Given the description of an element on the screen output the (x, y) to click on. 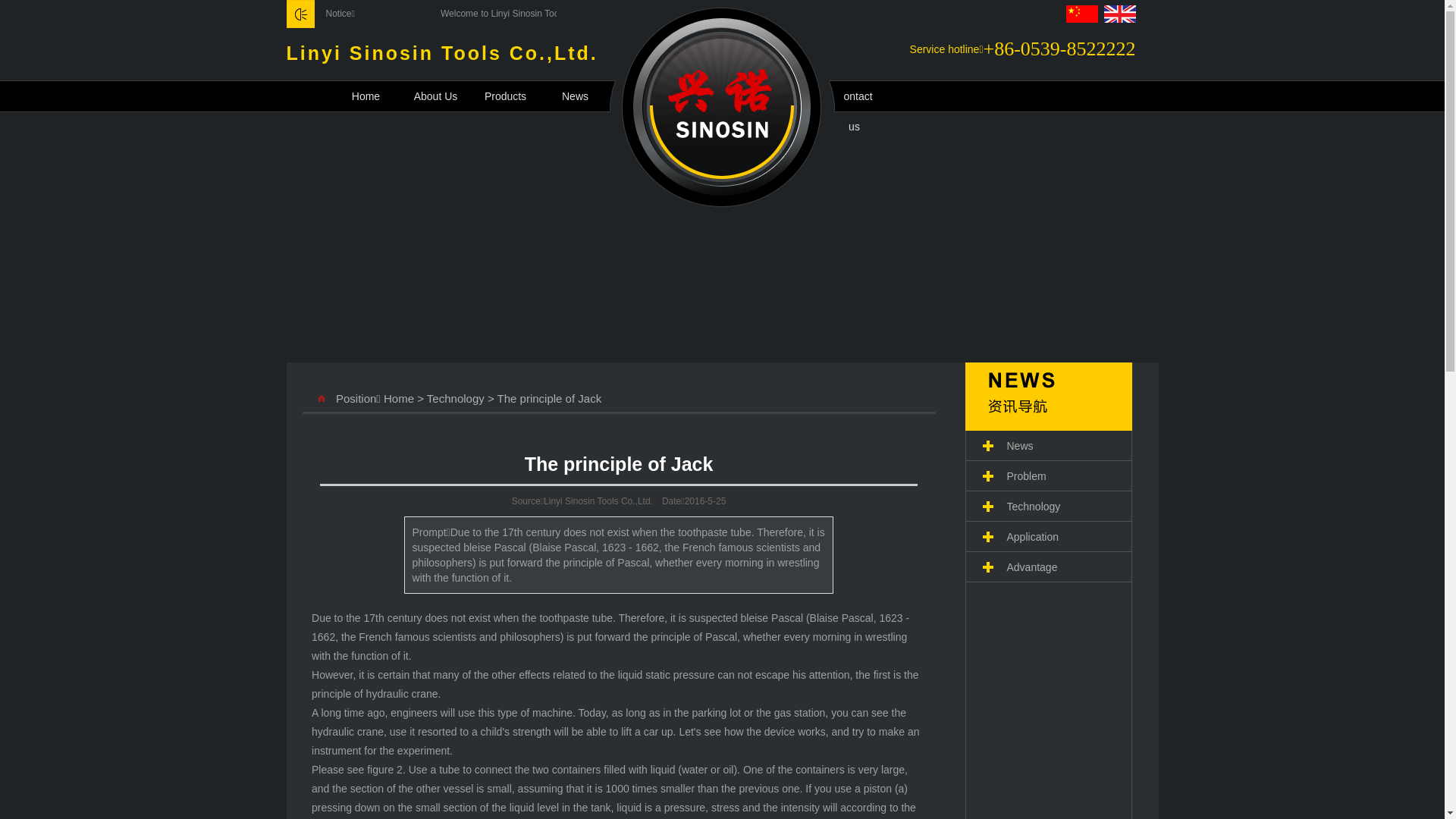
Contact us Element type: text (865, 96)
About Us Element type: text (447, 96)
Products Element type: text (517, 96)
Home Element type: text (398, 397)
Advantage Element type: text (1047, 567)
Home Element type: text (377, 96)
Application Element type: text (1047, 536)
News Element type: text (586, 96)
Application Element type: text (726, 96)
Technology Element type: text (656, 96)
News Element type: text (1047, 445)
The principle of Jack Element type: text (618, 463)
Technology Element type: text (455, 397)
The principle of Jack Element type: text (549, 397)
Technology Element type: text (1047, 506)
Workshop Element type: text (796, 96)
Linyi Sinosin Tools Co.,Ltd. Element type: hover (721, 203)
Problem Element type: text (1047, 476)
